Given the description of an element on the screen output the (x, y) to click on. 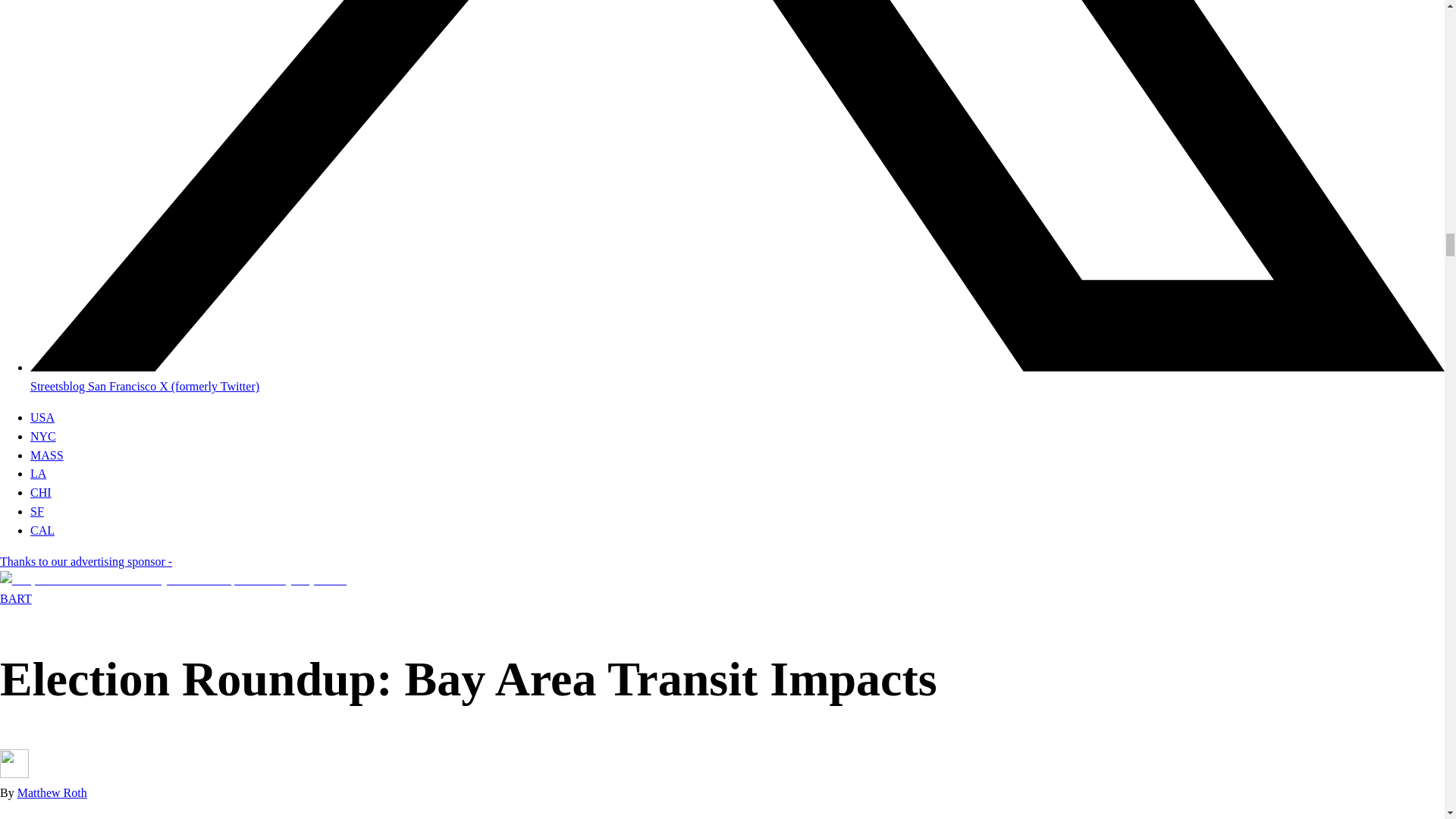
Matthew Roth (52, 792)
BART (16, 598)
LA (38, 472)
NYC (43, 436)
MASS (47, 454)
SF (36, 511)
USA (42, 417)
CAL (42, 530)
CHI (40, 492)
